Given the description of an element on the screen output the (x, y) to click on. 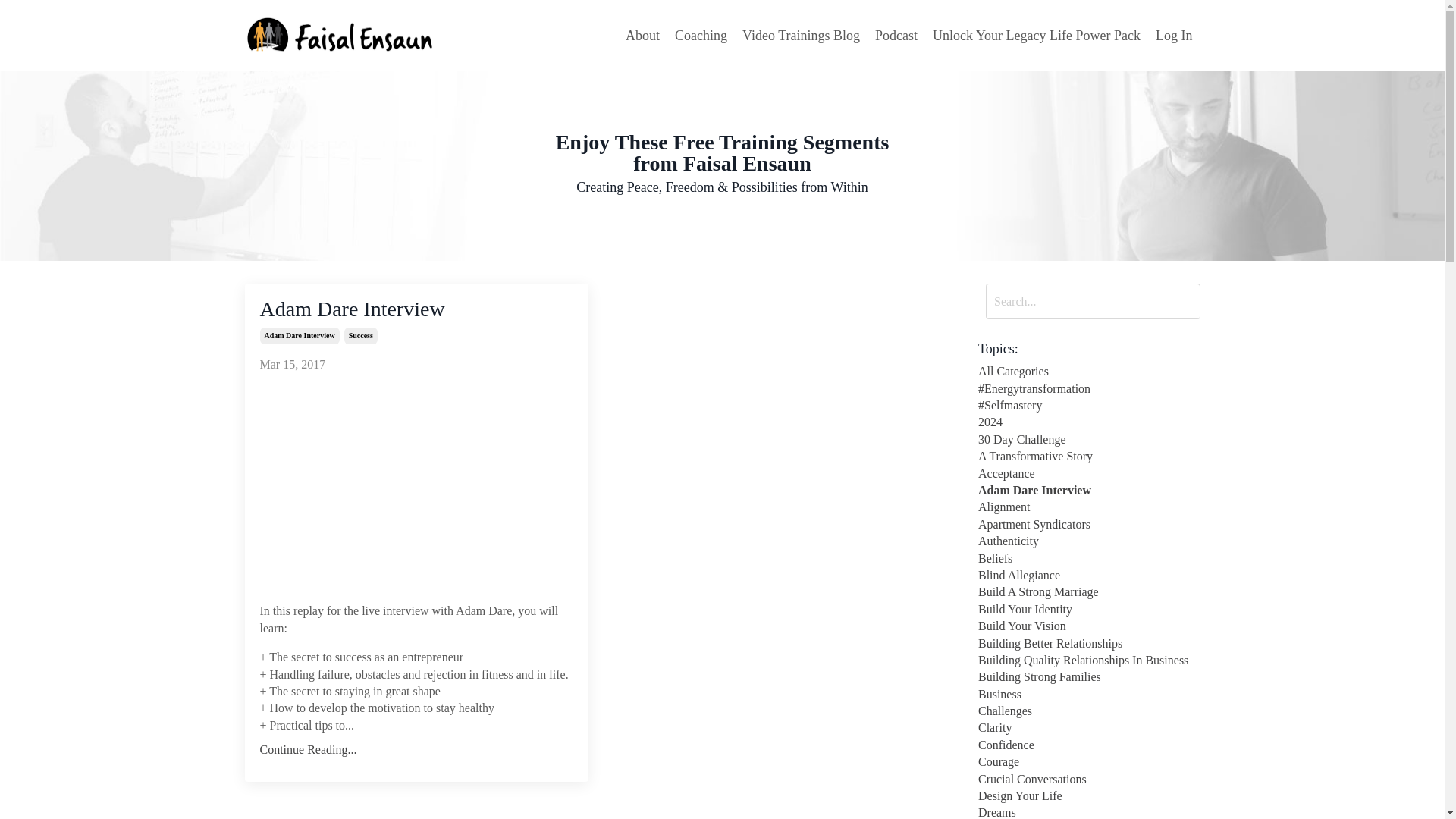
30 Day Challenge (1088, 439)
Acceptance (1088, 474)
Build Your Vision (1088, 626)
Challenges (1088, 710)
Blind Allegiance (1088, 575)
2024 (1088, 422)
Video Trainings Blog (801, 35)
Adam Dare Interview (416, 309)
Design Your Life (1088, 795)
Log In (1174, 35)
